Given the description of an element on the screen output the (x, y) to click on. 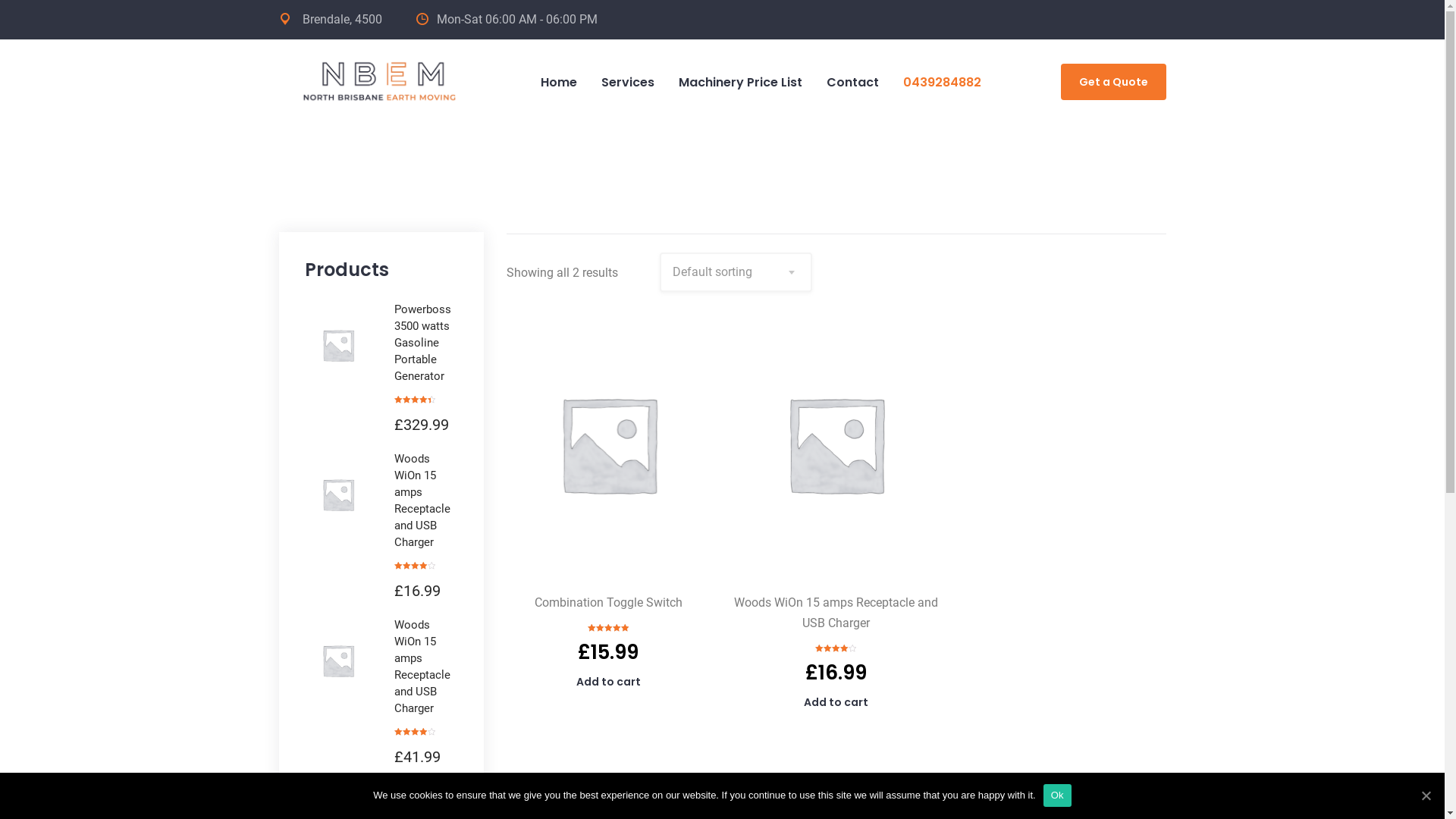
Woods WiOn 15 amps Receptacle and USB Charger Element type: text (835, 612)
0439284882 Element type: text (941, 82)
Services Element type: text (626, 82)
Powerboss 3500 watts Gasoline Portable Generator Element type: text (426, 342)
Add to cart Element type: text (835, 701)
Machinery Price List Element type: text (739, 82)
Woods WiOn 15 amps Receptacle and USB Charger Element type: text (426, 500)
Contact Element type: text (852, 82)
Combination Toggle Switch Element type: text (608, 602)
Get a Quote Element type: text (1112, 81)
Add to cart Element type: text (608, 681)
Home Element type: text (557, 82)
Ok Element type: text (1057, 795)
Woods WiOn 15 amps Receptacle and USB Charger Element type: text (426, 666)
